Given the description of an element on the screen output the (x, y) to click on. 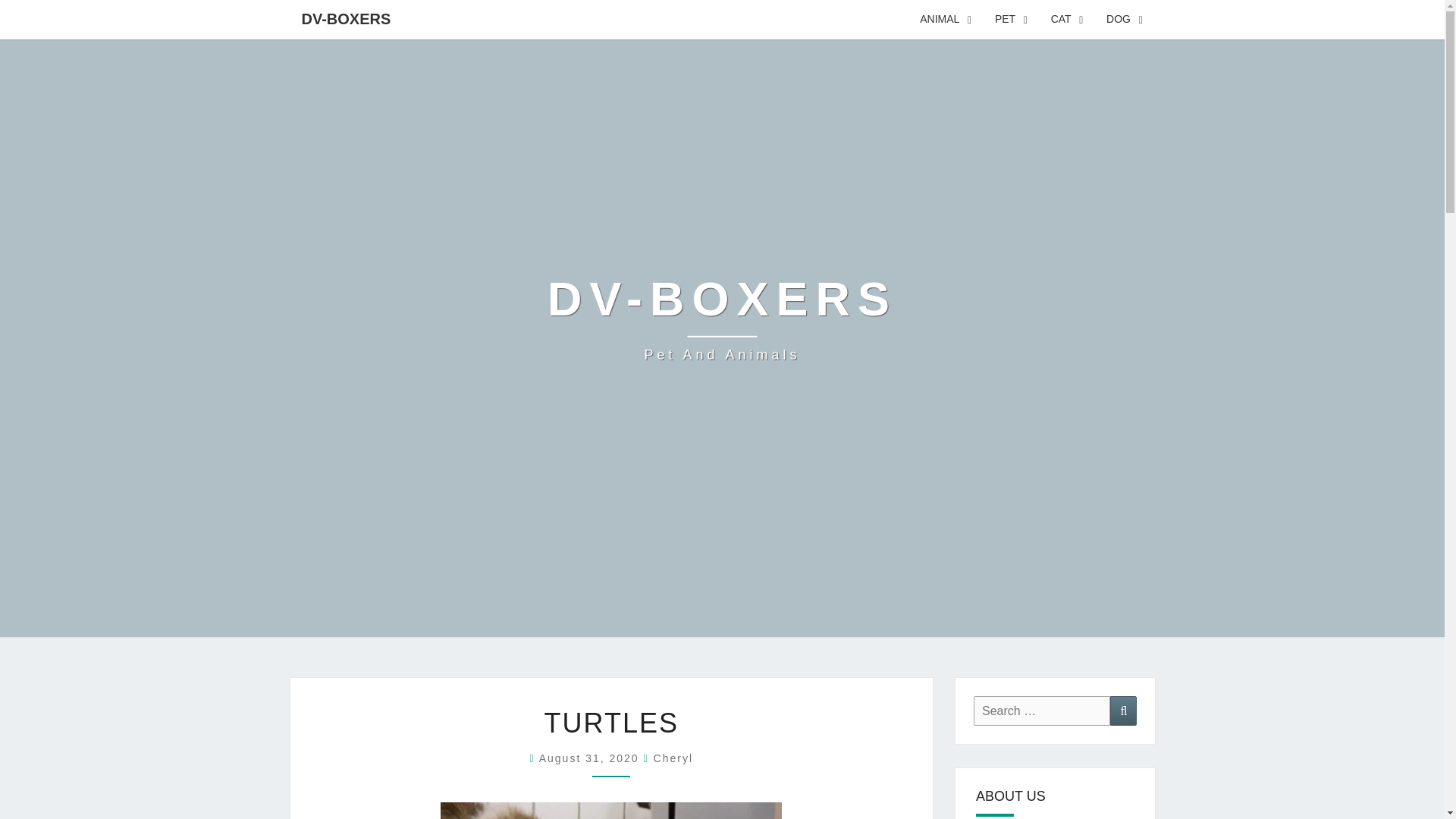
View all posts by Cheryl (673, 758)
DV-BOXERS (345, 18)
Search for: (1041, 710)
Search (1123, 710)
PET (1011, 19)
Cheryl (673, 758)
7:43 am (590, 758)
DOG (1124, 19)
ANIMAL (946, 19)
CAT (1066, 19)
August 31, 2020 (590, 758)
DV-Boxers (721, 318)
